Given the description of an element on the screen output the (x, y) to click on. 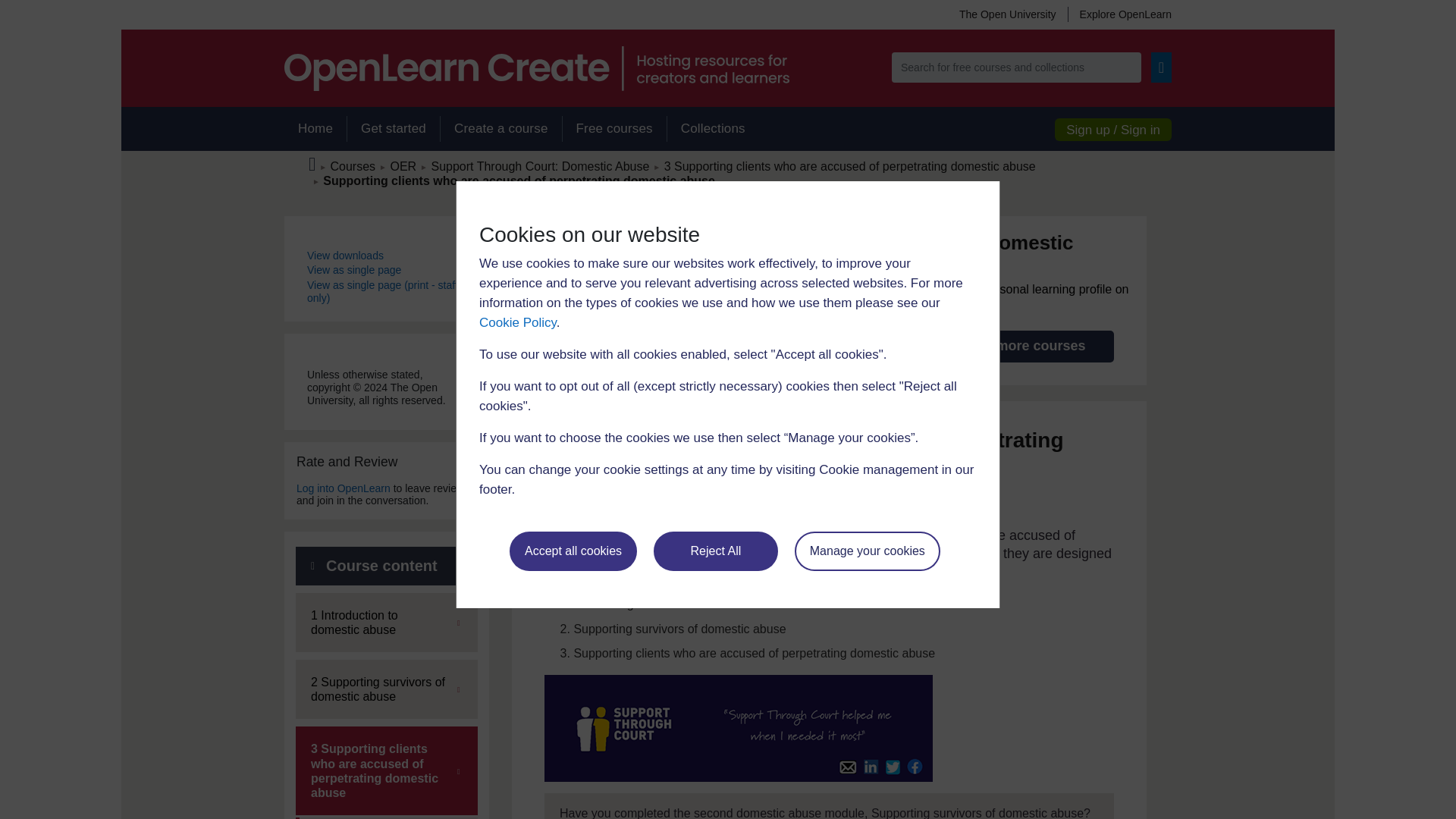
Home (314, 128)
Free courses (614, 128)
Explore OpenLearn (1119, 14)
Get started (392, 128)
Reject All (715, 550)
Accept all cookies (573, 550)
Collections (712, 128)
Manage your cookies (867, 550)
The Open University (1007, 14)
Back to course content tab (386, 566)
Cookie Policy (517, 322)
Create a course (500, 128)
OpenLearn Create (536, 67)
Explore OpenLearn (1119, 14)
The Open University (1007, 14)
